Given the description of an element on the screen output the (x, y) to click on. 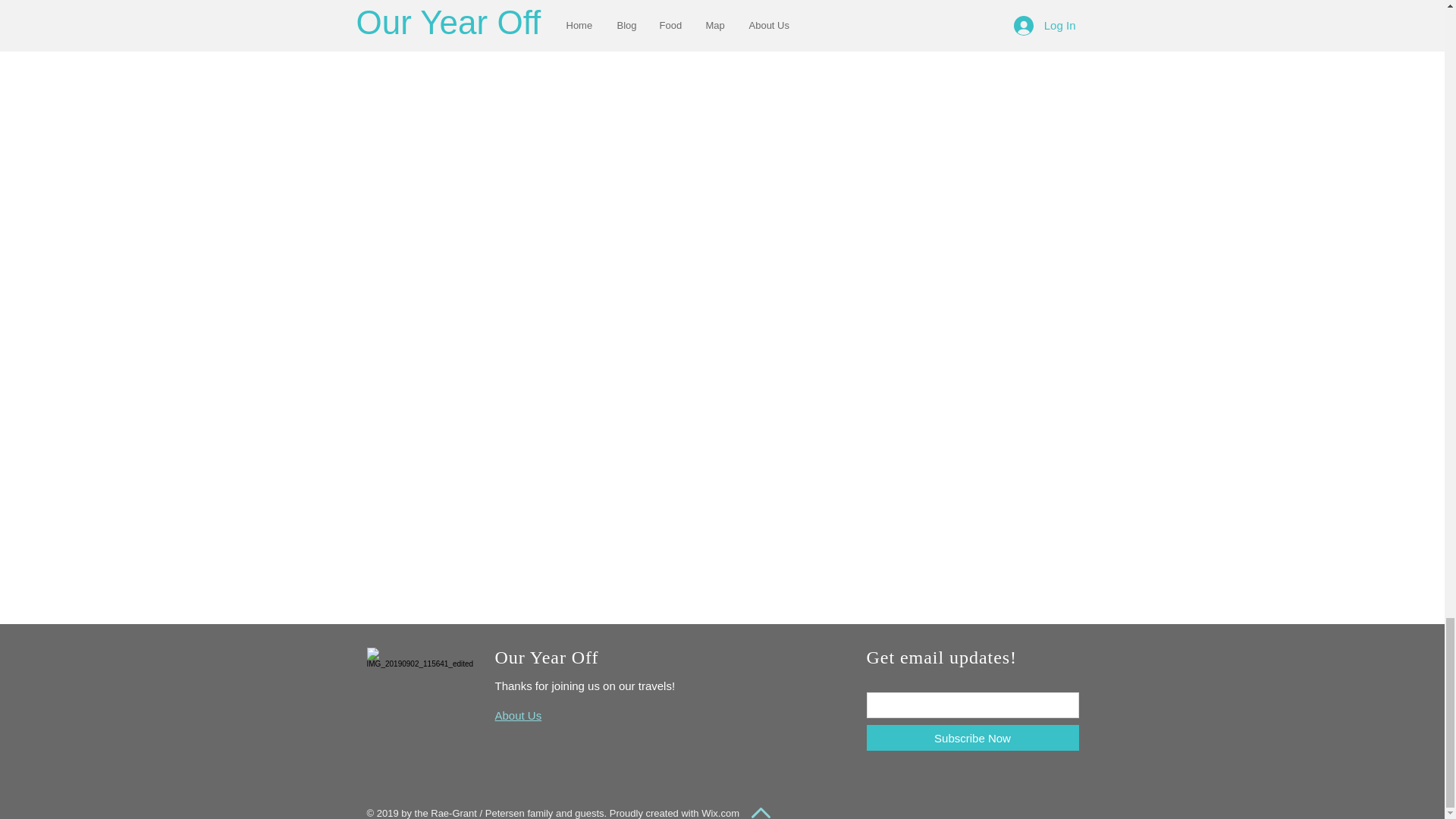
Subscribe Now (972, 737)
About Us (518, 715)
